Given the description of an element on the screen output the (x, y) to click on. 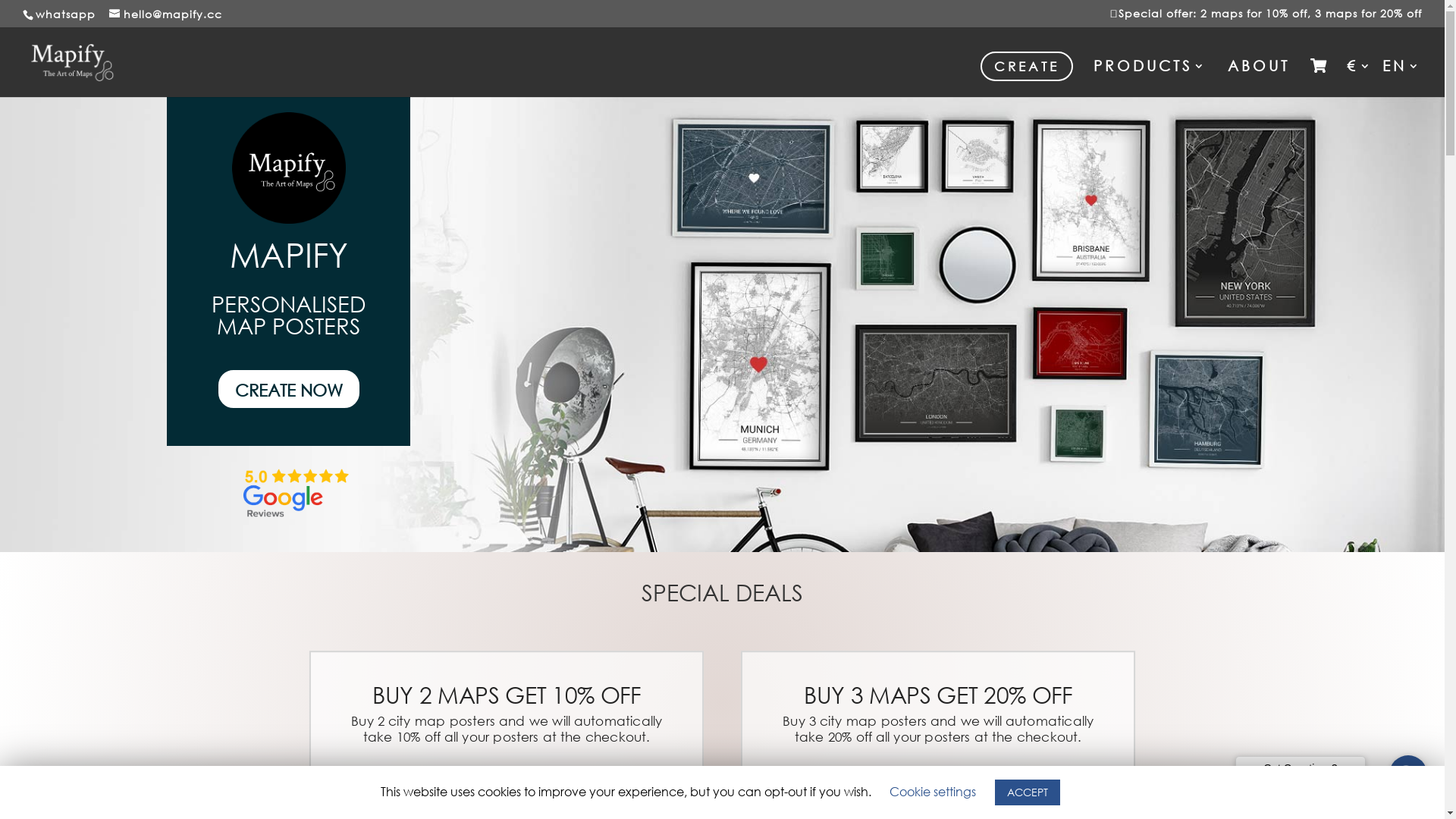
EN Element type: text (1401, 77)
ACCEPT Element type: text (1027, 792)
hello@mapify.cc Element type: text (165, 13)
Cookie settings Element type: text (932, 791)
whatsapp Element type: text (65, 13)
PRODUCTS Element type: text (1150, 77)
CREATE Element type: text (1026, 66)
CREATE NOW Element type: text (288, 388)
Home Mapify Element type: hover (288, 167)
Home Mapify Element type: hover (296, 493)
ABOUT Element type: text (1258, 77)
